Given the description of an element on the screen output the (x, y) to click on. 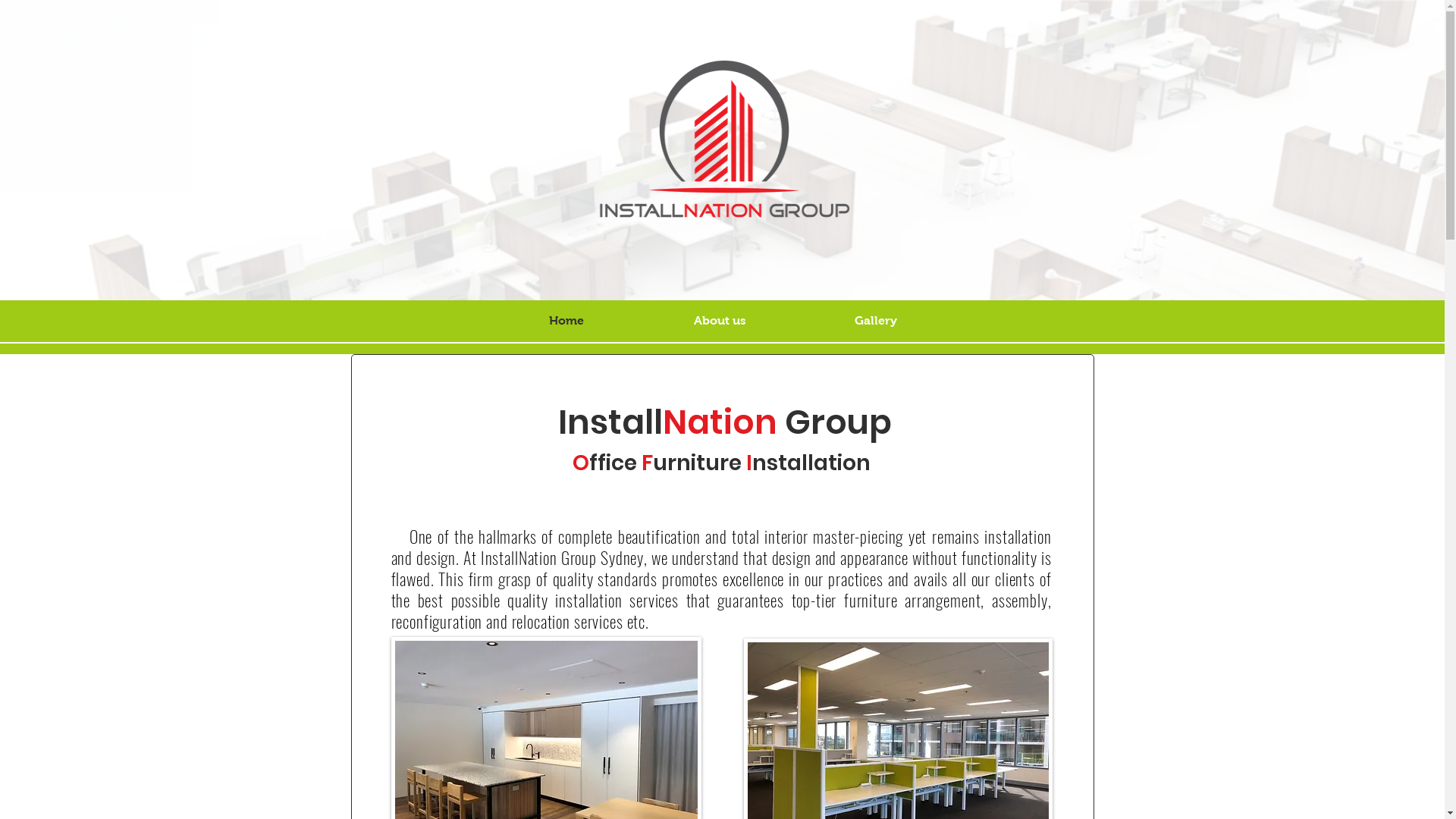
Gallery Element type: text (874, 320)
About us Element type: text (718, 320)
Home Element type: text (566, 320)
